Given the description of an element on the screen output the (x, y) to click on. 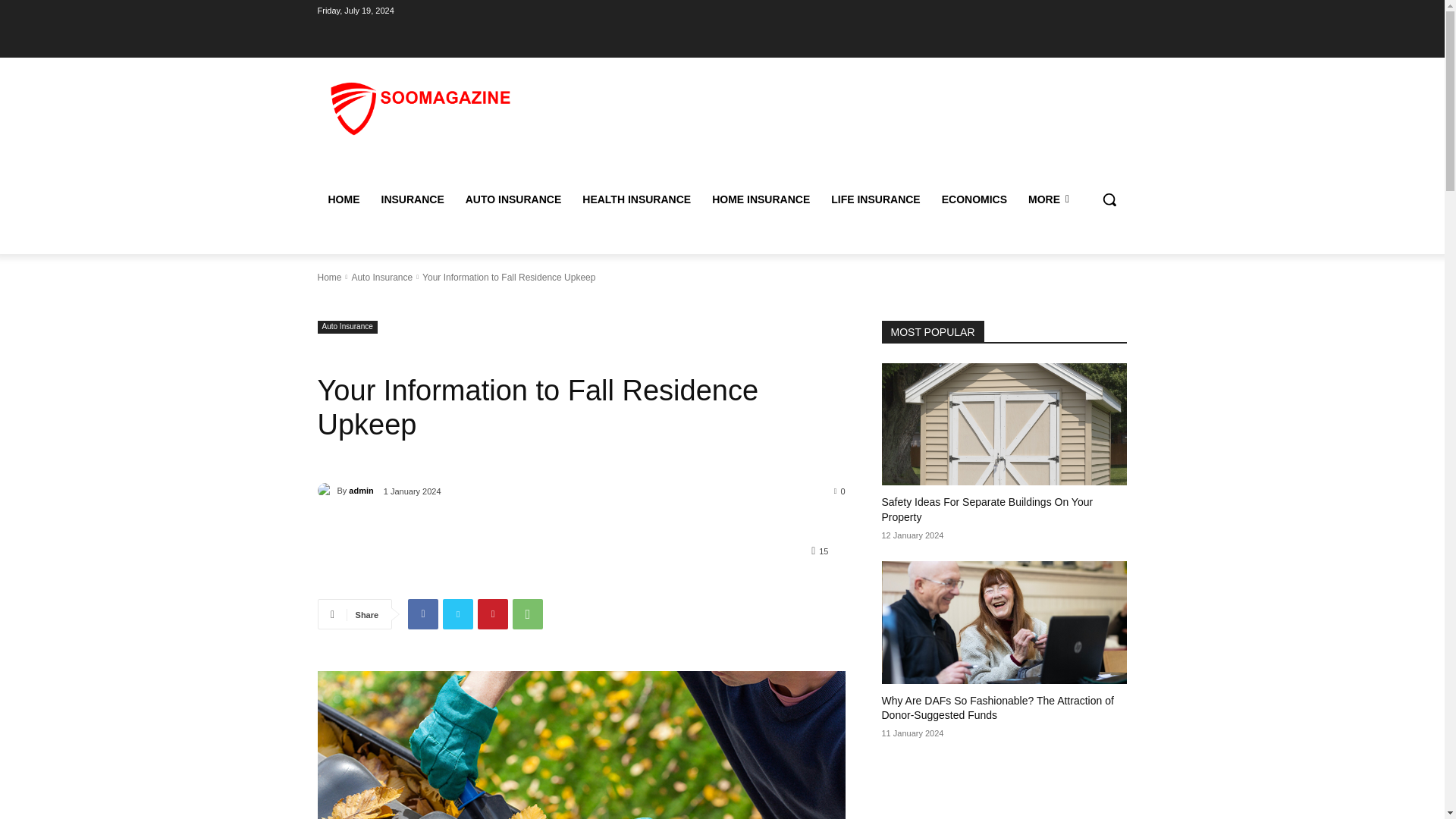
admin (326, 490)
View all posts in Auto Insurance (381, 276)
Home (328, 276)
HOME INSURANCE (761, 198)
Pinterest (492, 613)
Twitter (457, 613)
Facebook (422, 613)
INSURANCE (411, 198)
MORE (1048, 198)
HEALTH INSURANCE (636, 198)
AUTO INSURANCE (513, 198)
ECONOMICS (974, 198)
Auto Insurance (381, 276)
HOME (343, 198)
LIFE INSURANCE (875, 198)
